Given the description of an element on the screen output the (x, y) to click on. 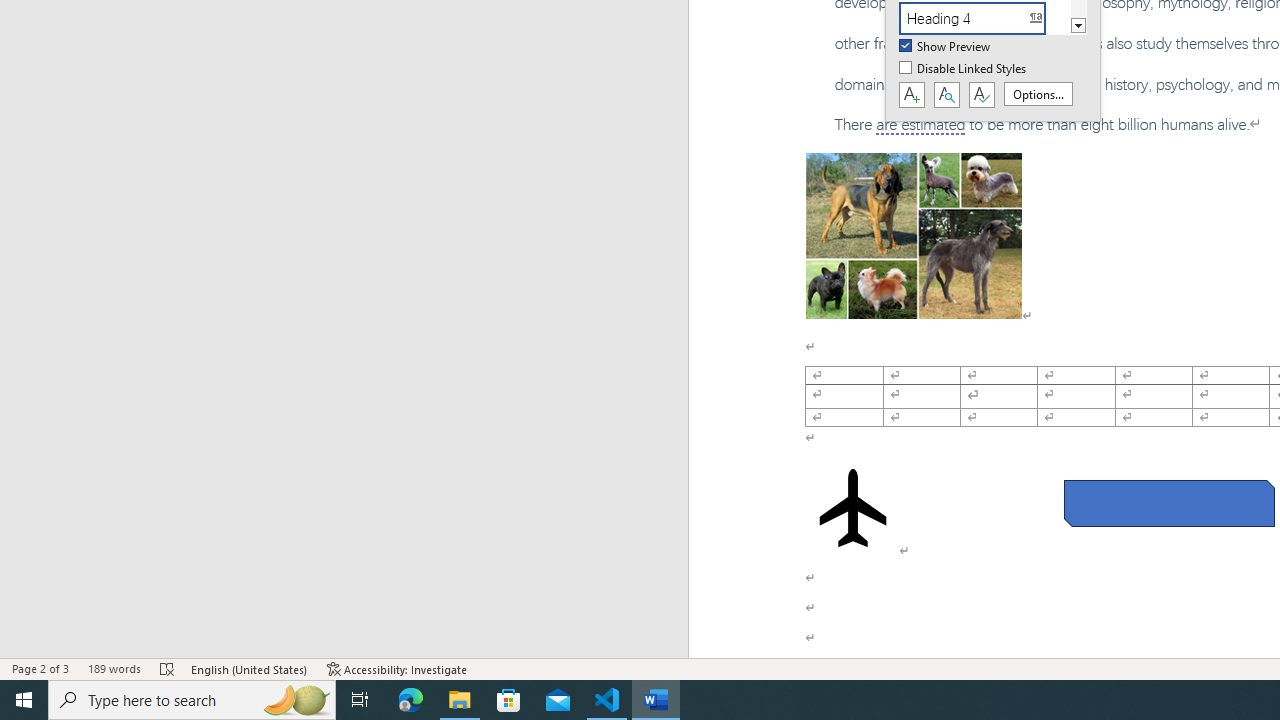
Heading 4 (984, 18)
Page Number Page 2 of 3 (39, 668)
Show Preview (946, 47)
Options... (1037, 93)
Class: NetUIButton (981, 95)
Airplane with solid fill (852, 507)
Disable Linked Styles (964, 69)
Rectangle: Diagonal Corners Snipped 2 (1168, 503)
Spelling and Grammar Check Errors (168, 668)
Morphological variation in six dogs (913, 235)
